Given the description of an element on the screen output the (x, y) to click on. 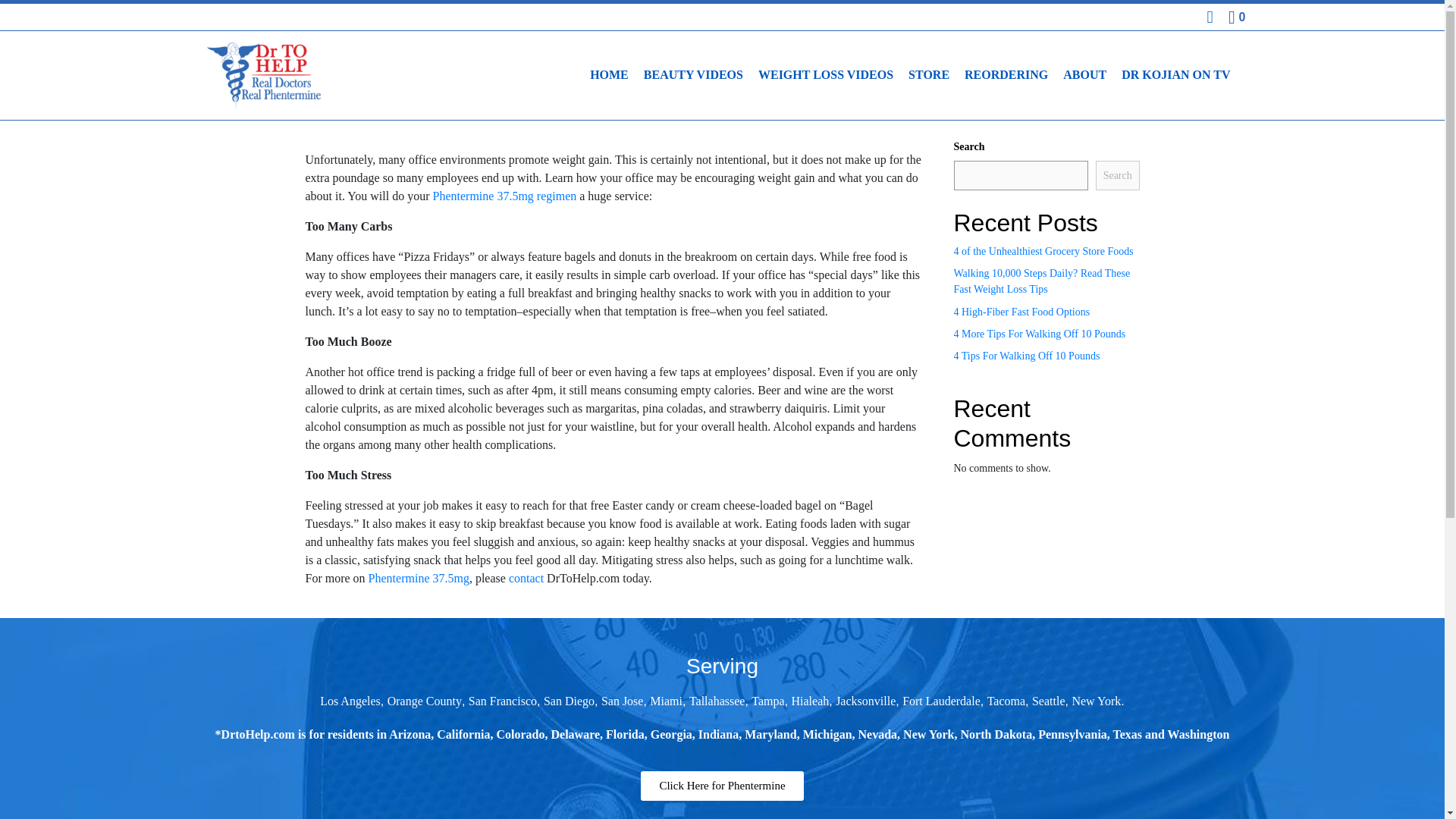
Fast Weight Loss Solutions for Orange County Residents (424, 700)
Phentermine Weight Loss in San Francisco (502, 700)
Tampa (767, 700)
Los Angeles (350, 700)
Fast Weight Loss in San Diego (568, 700)
4 High-Fiber Fast Food Options (1021, 311)
Weight Loss Pills Tacoma Residents (1006, 700)
4 Tips For Walking Off 10 Pounds (1026, 355)
WEIGHT LOSS VIDEOS (826, 74)
Phentermine 37.5mg (418, 577)
Fast Hialeah Area Weight Loss (810, 700)
Search (1118, 175)
Hialeah (810, 700)
ABOUT (1084, 74)
DR KOJIAN ON TV (1175, 74)
